Given the description of an element on the screen output the (x, y) to click on. 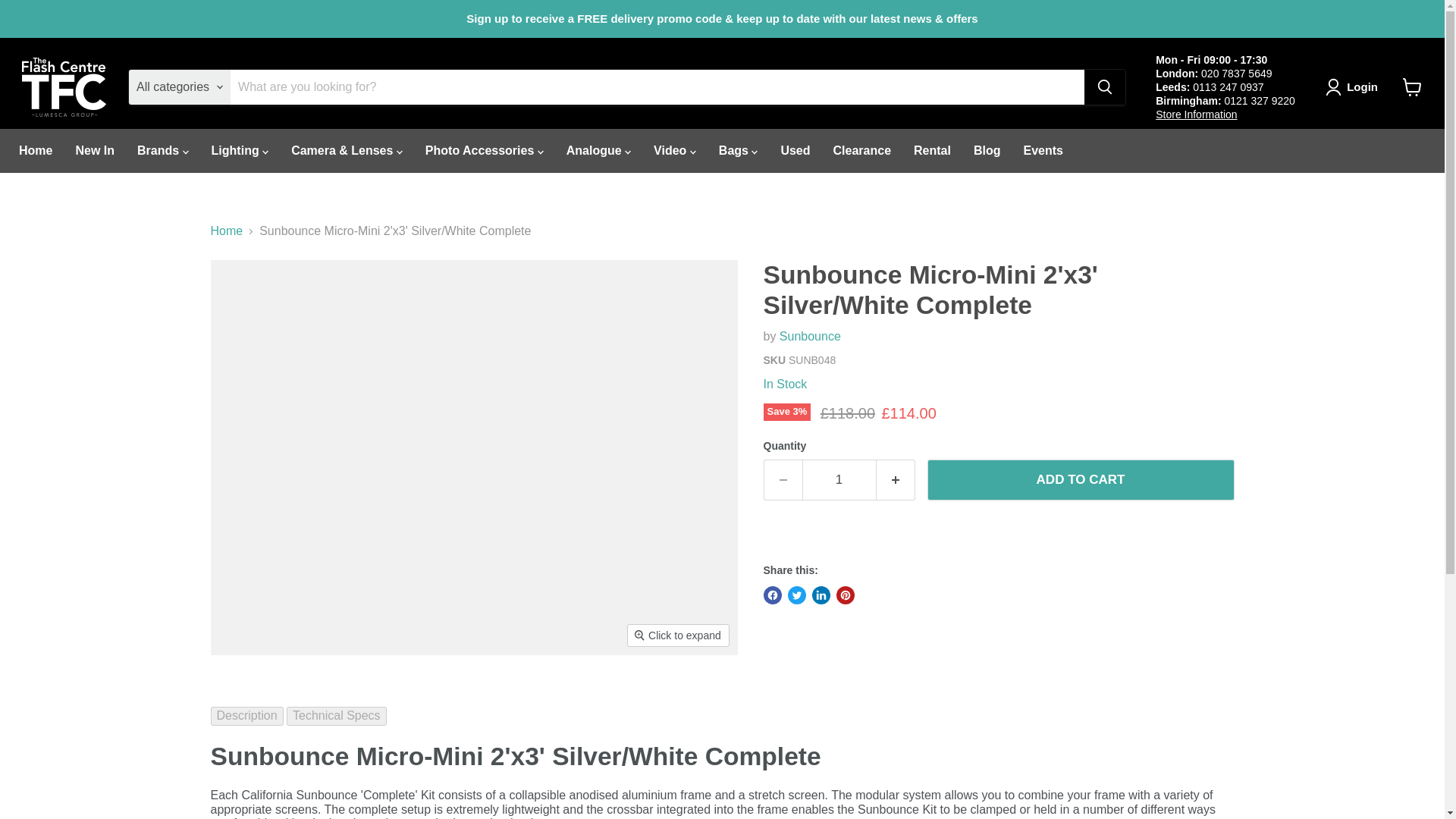
View cart (1411, 87)
Our Stores (1196, 114)
Store Information (1196, 114)
New In (94, 151)
Login (1354, 86)
Home (35, 151)
Mon - Fri 09:00 - 17:30 (1211, 59)
1 (839, 479)
Sunbounce (809, 336)
